Given the description of an element on the screen output the (x, y) to click on. 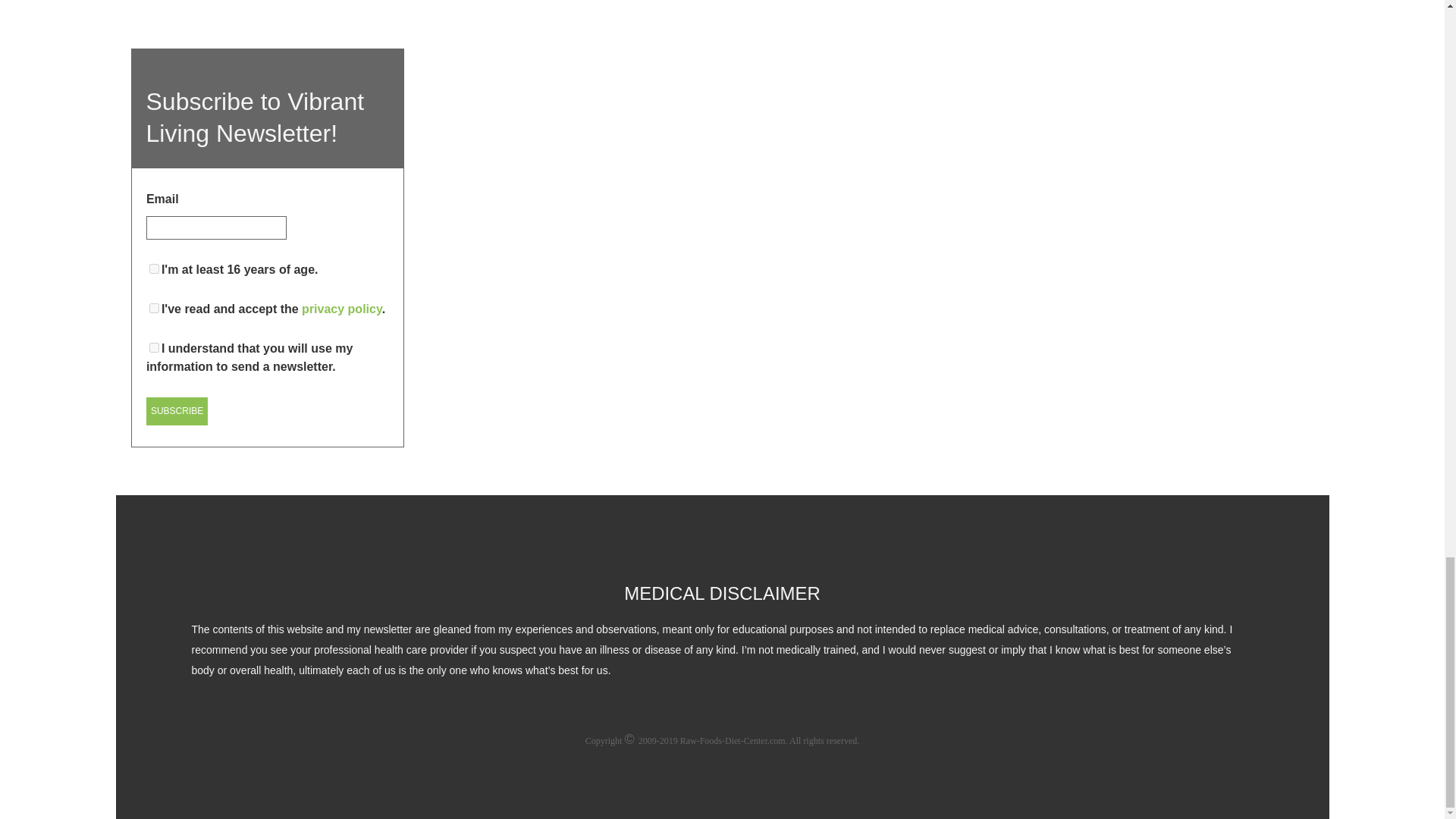
on (153, 268)
on (153, 307)
on (153, 347)
